Given the description of an element on the screen output the (x, y) to click on. 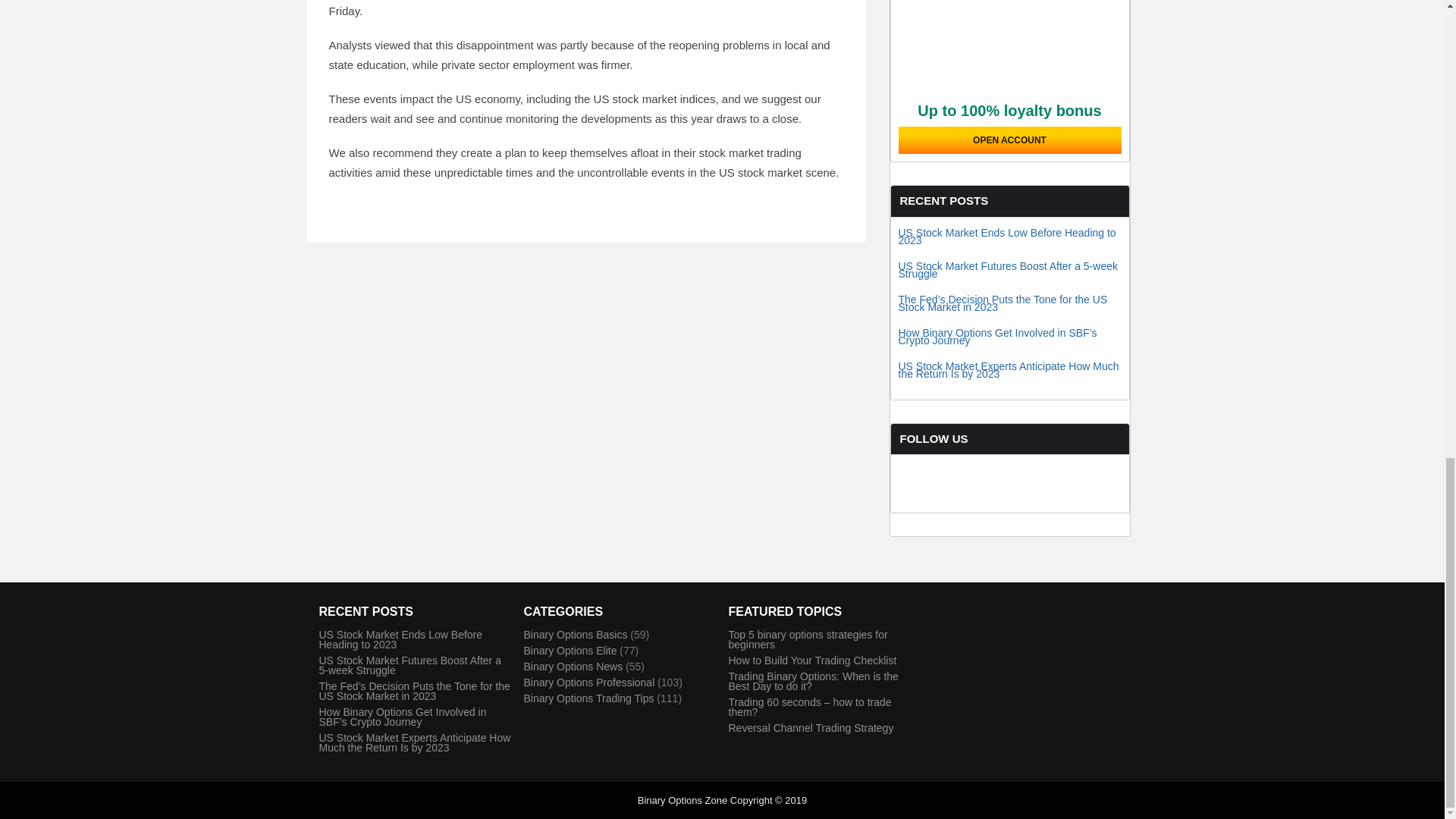
Follow us on Twitter (984, 503)
Follow us on Facebook (926, 503)
